Given the description of an element on the screen output the (x, y) to click on. 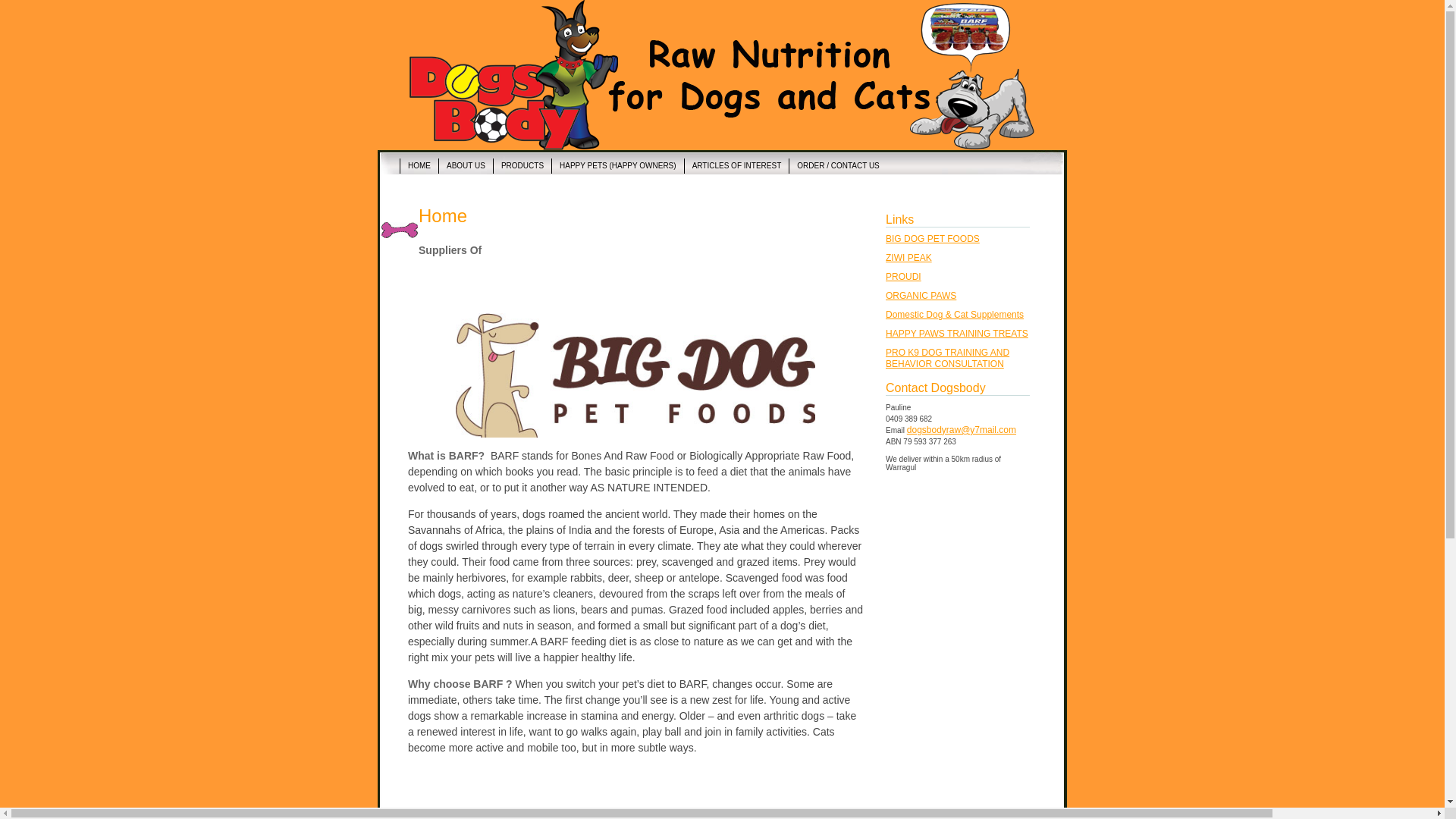
Stanley Element type: hover (635, 375)
HAPPY PAWS TRAINING TREATS Element type: text (956, 333)
ZIWI PEAK Element type: text (908, 257)
ORGANIC PAWS Element type: text (920, 295)
Domestic Dog & Cat Supplements Element type: text (954, 314)
PROUDI Element type: text (903, 276)
HOME Element type: text (418, 165)
ARTICLES OF INTEREST Element type: text (736, 165)
dogsbodyraw@y7mail.com Element type: text (961, 429)
BIG DOG PET FOODS Element type: text (932, 238)
PRODUCTS Element type: text (521, 165)
ABOUT US Element type: text (465, 165)
PRO K9 DOG TRAINING AND BEHAVIOR CONSULTATION Element type: text (947, 358)
HAPPY PETS (HAPPY OWNERS) Element type: text (617, 165)
ORDER / CONTACT US Element type: text (837, 165)
